Given the description of an element on the screen output the (x, y) to click on. 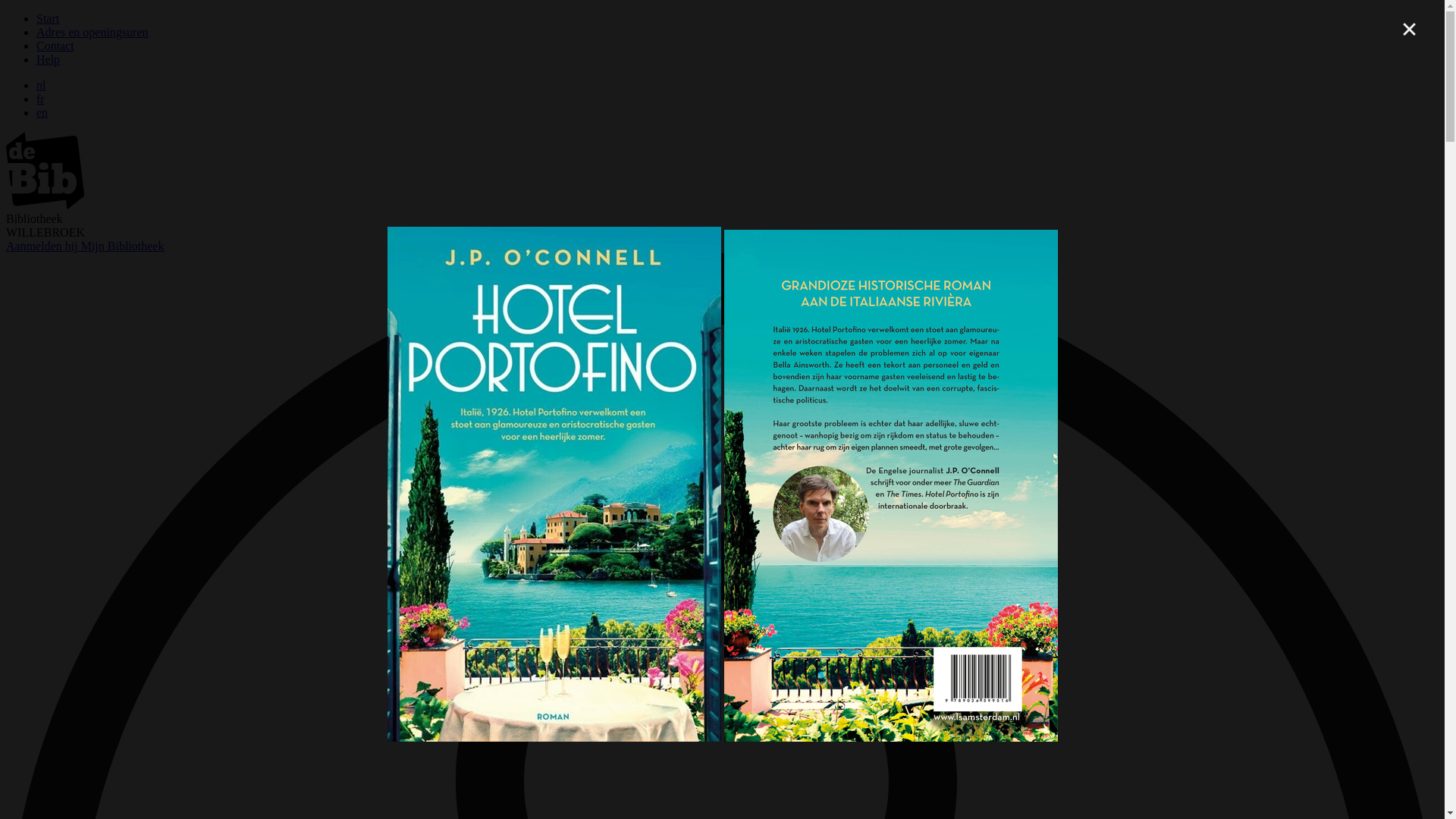
Start Element type: text (47, 18)
Adres en openingsuren Element type: text (92, 31)
image/svg+xml Element type: text (45, 204)
nl Element type: text (40, 84)
Aanmelden bij Mijn Bibliotheek Element type: text (84, 245)
en Element type: text (41, 112)
Overslaan en naar zoeken gaan Element type: text (6, 12)
fr Element type: text (40, 98)
Help Element type: text (47, 59)
Contact Element type: text (55, 45)
